Given the description of an element on the screen output the (x, y) to click on. 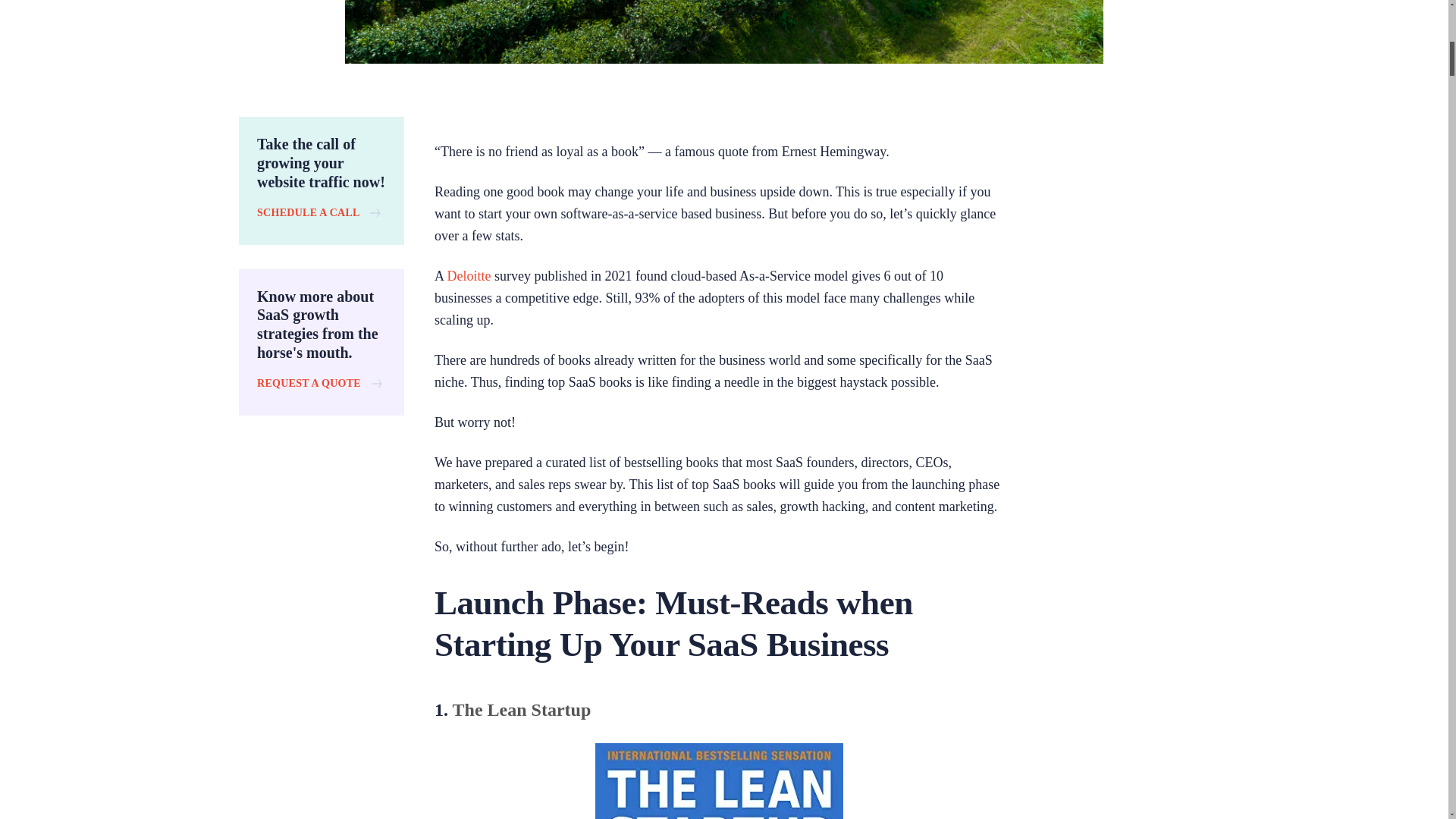
REQUEST A QUOTE (319, 383)
SCHEDULE A CALL (318, 212)
The Lean Startup (521, 709)
